Given the description of an element on the screen output the (x, y) to click on. 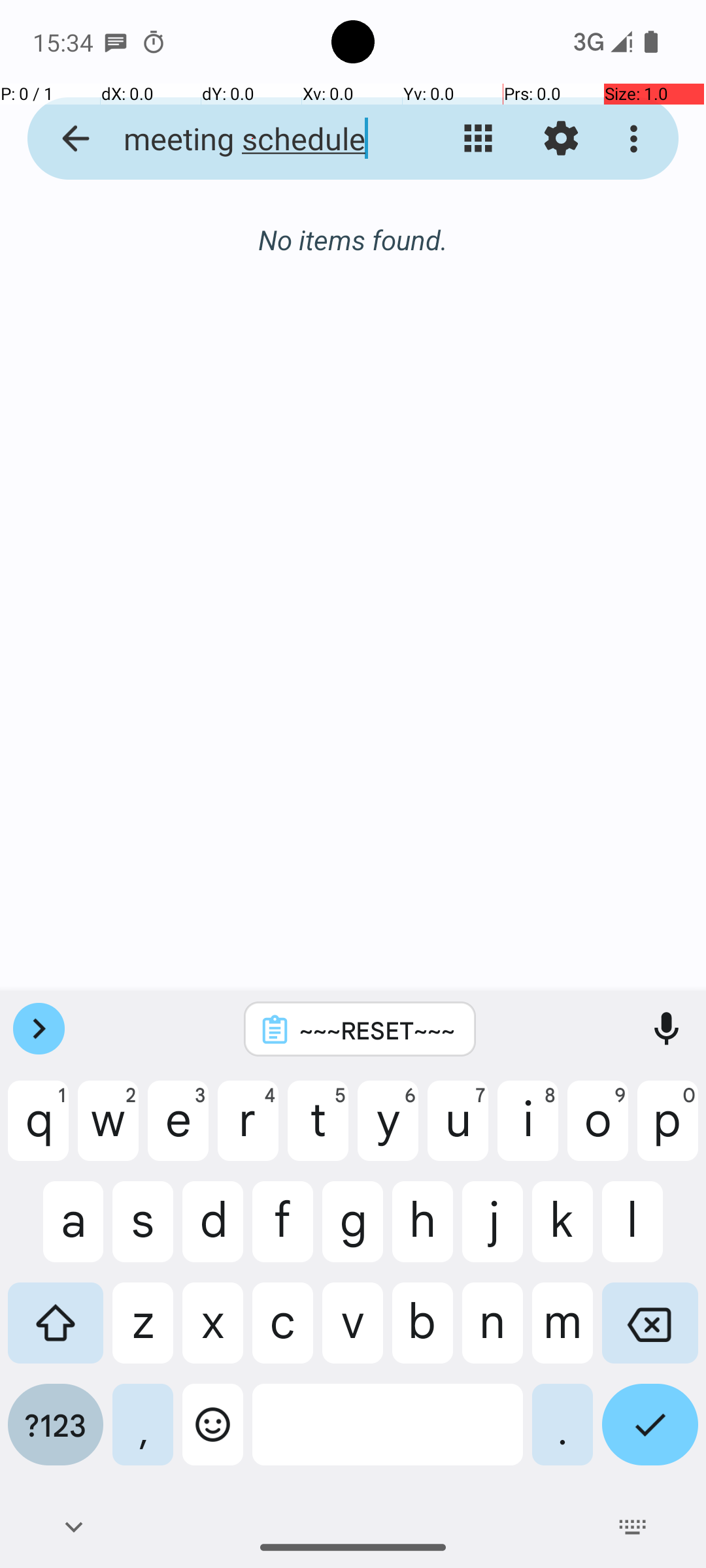
meeting schedule Element type: android.widget.EditText (252, 138)
